Given the description of an element on the screen output the (x, y) to click on. 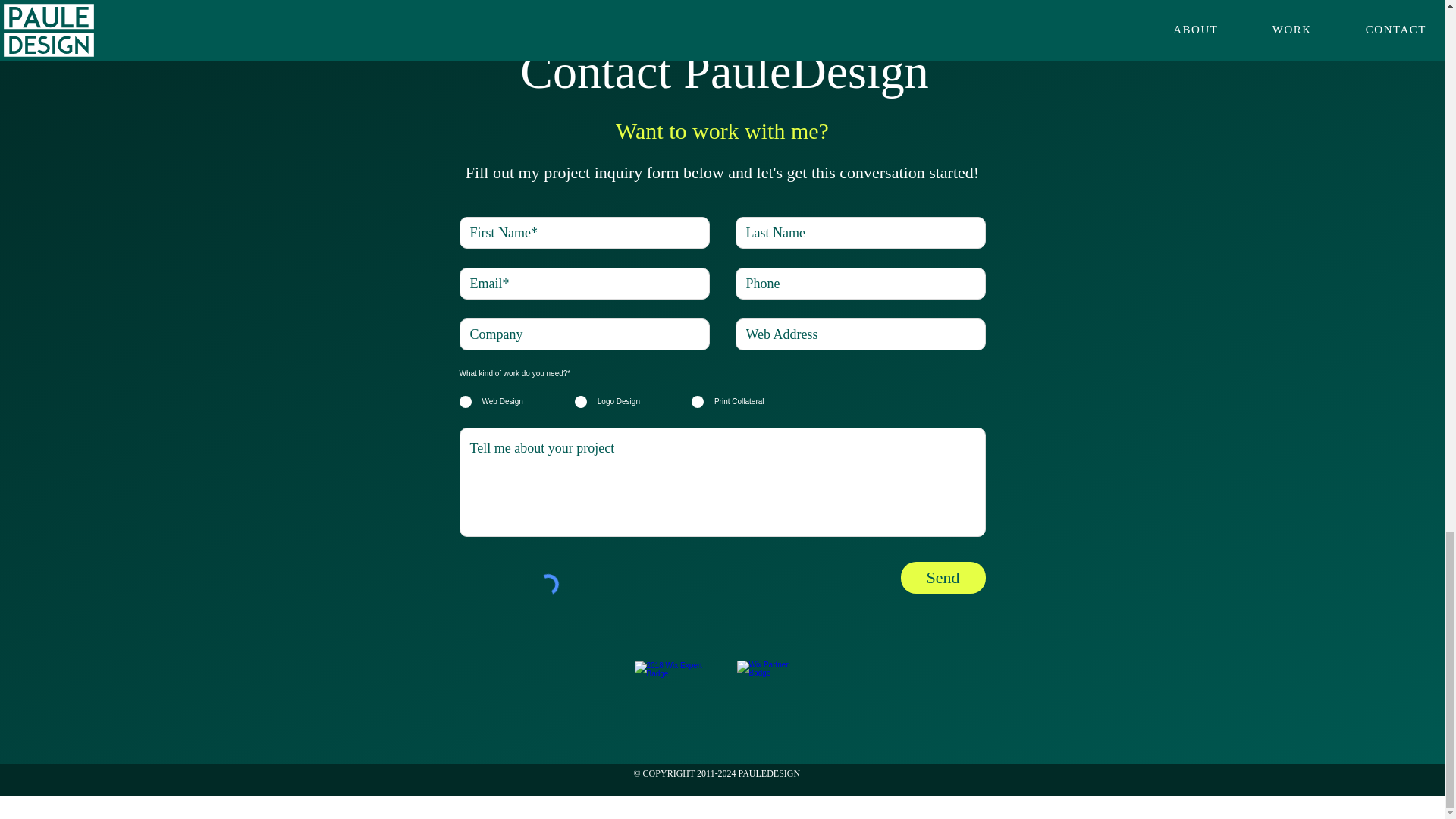
Send (943, 577)
